Given the description of an element on the screen output the (x, y) to click on. 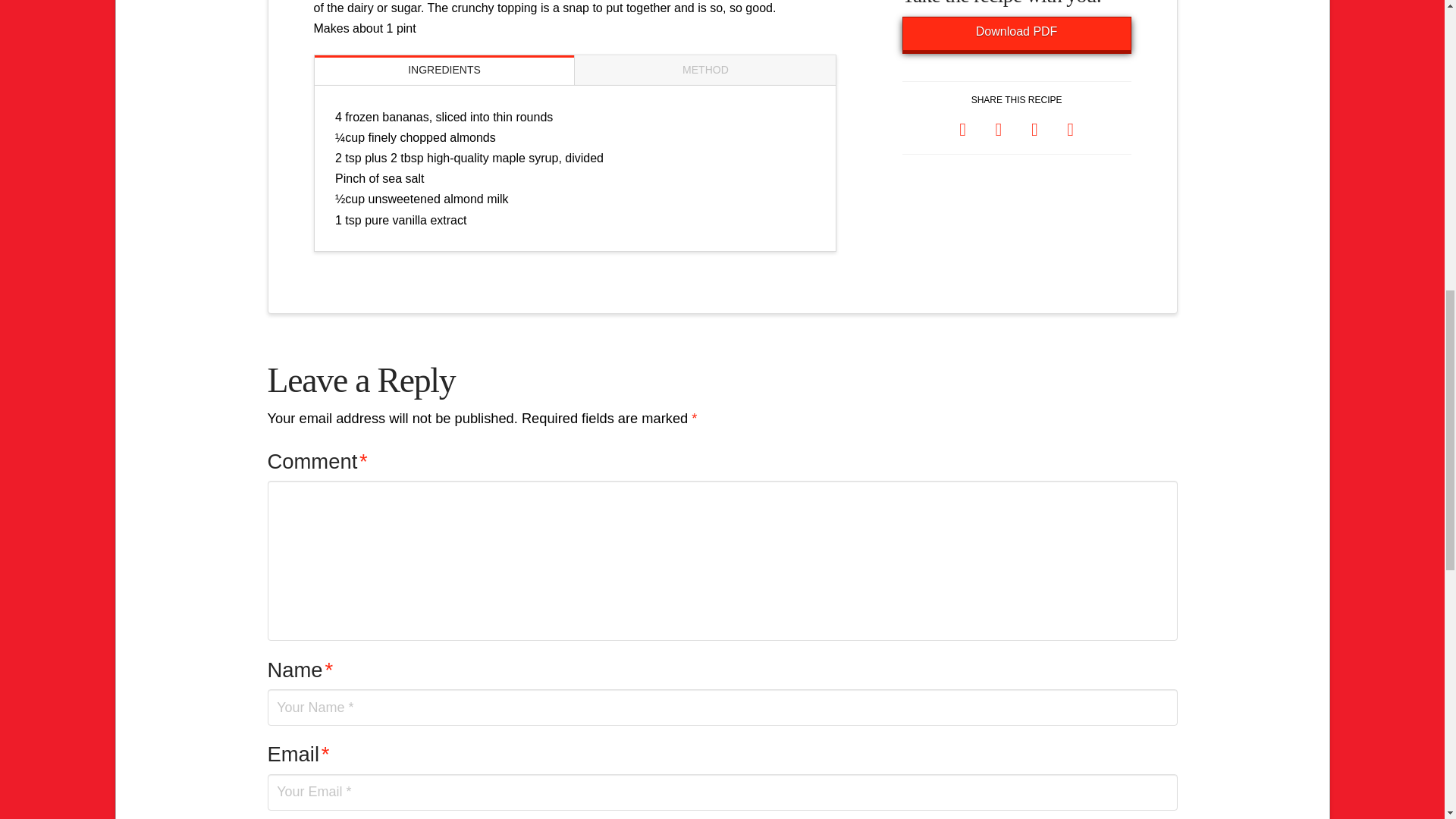
Download PDF (1016, 33)
METHOD (705, 70)
INGREDIENTS (443, 70)
Download PDF (1016, 33)
